Given the description of an element on the screen output the (x, y) to click on. 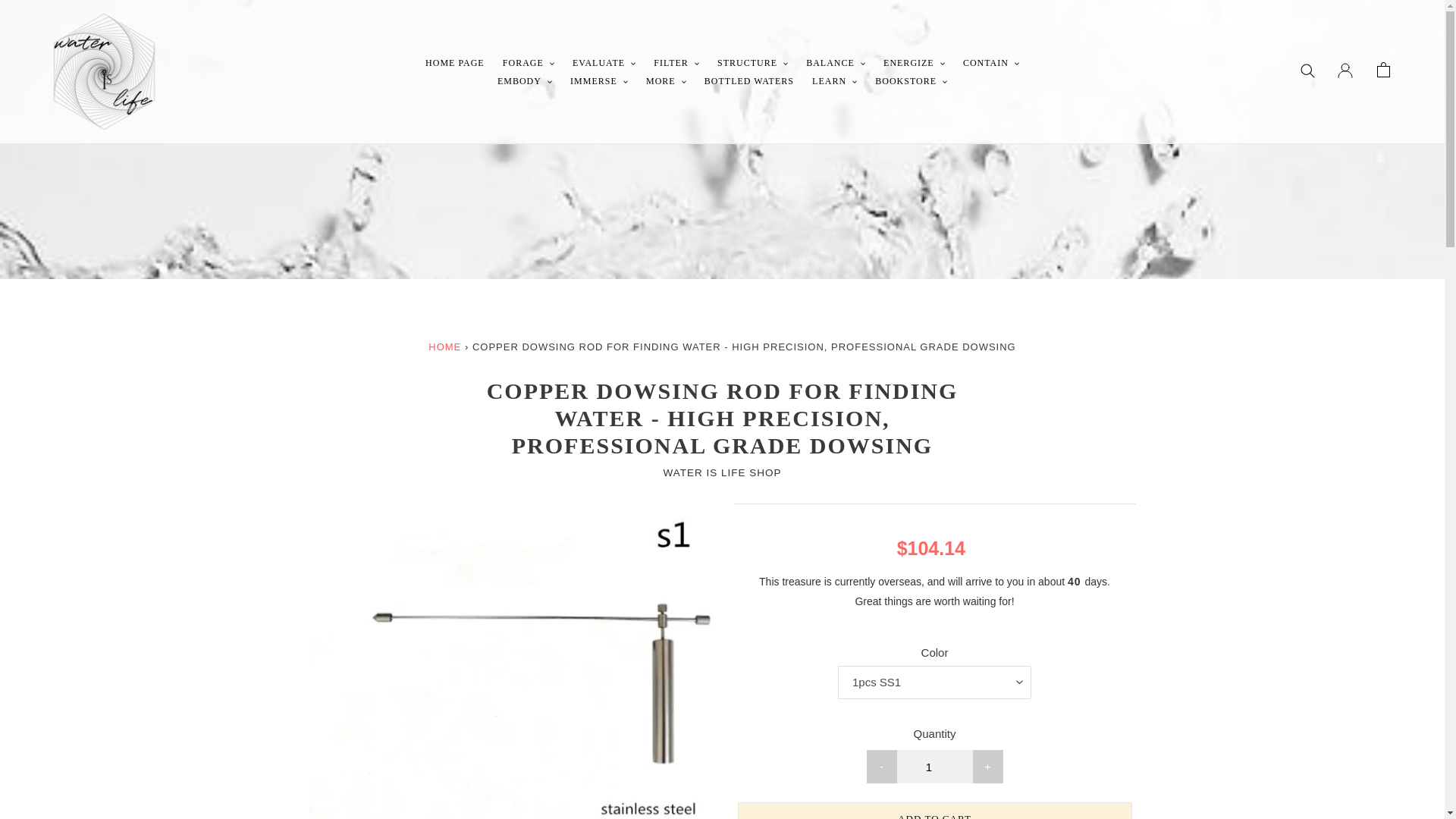
HOME PAGE (454, 62)
BALANCE (834, 62)
ENERGIZE (914, 62)
EVALUATE (603, 62)
- (881, 766)
FILTER (676, 62)
FORAGE (528, 62)
STRUCTURE (752, 62)
Home (444, 346)
1 (934, 766)
